Given the description of an element on the screen output the (x, y) to click on. 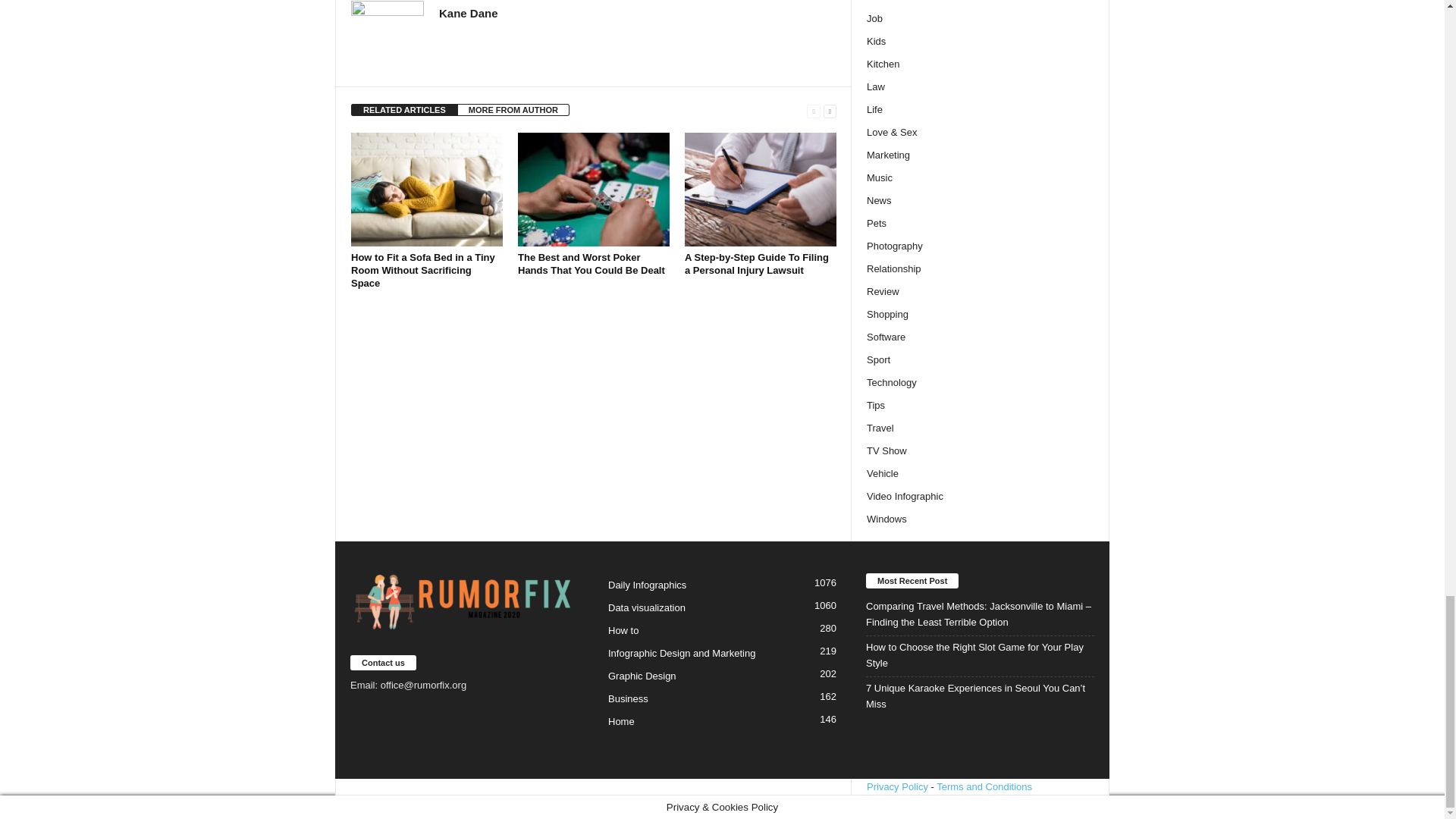
The Best and Worst Poker Hands That You Could Be Dealt (593, 189)
The Best and Worst Poker Hands That You Could Be Dealt (591, 263)
A Step-by-Step Guide To Filing a Personal Injury Lawsuit (759, 189)
A Step-by-Step Guide To Filing a Personal Injury Lawsuit (756, 263)
